Given the description of an element on the screen output the (x, y) to click on. 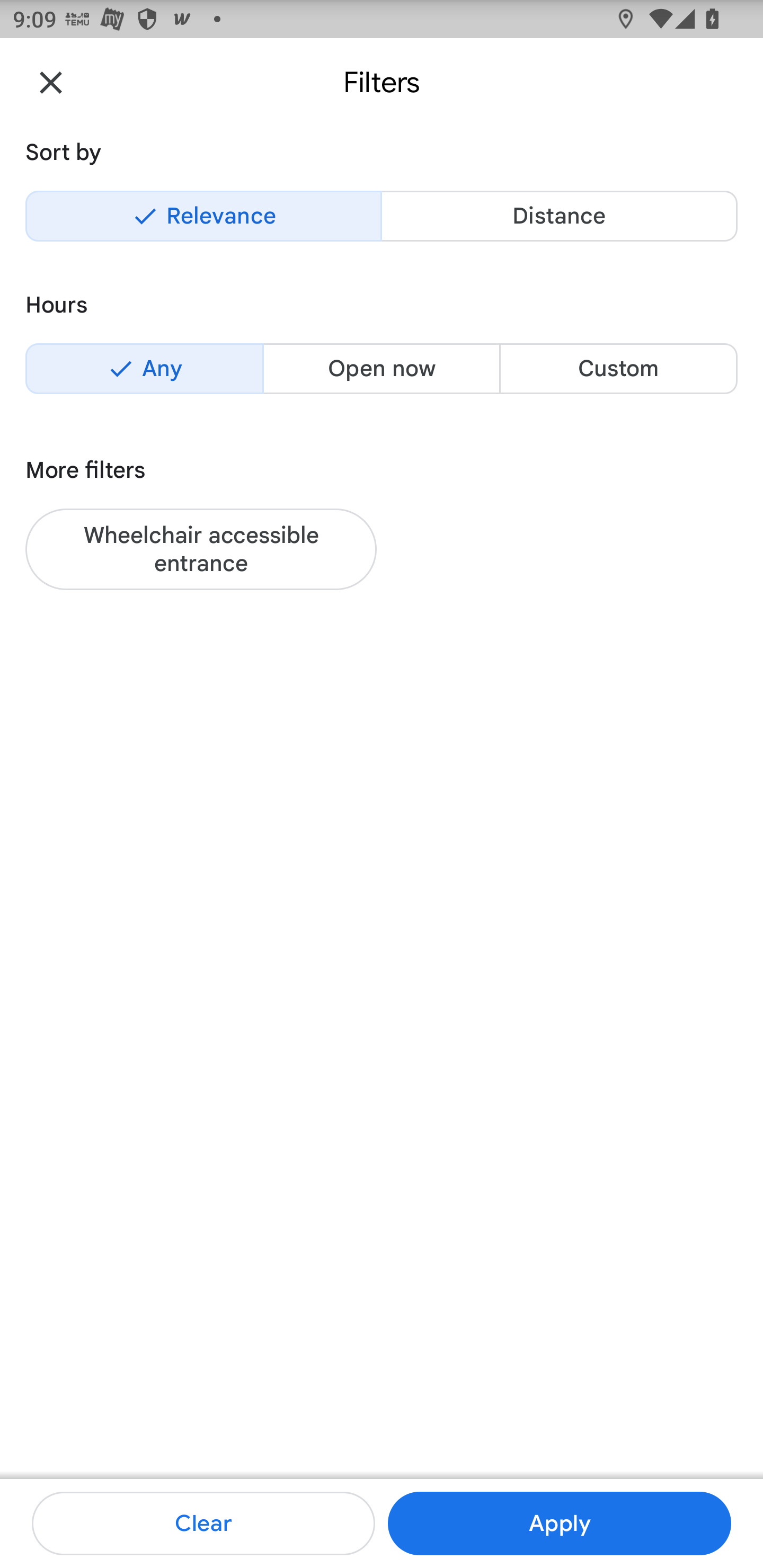
Close menu (50, 81)
Relevance (203, 216)
Distance (558, 216)
Any (144, 368)
Open now (381, 368)
Custom (618, 368)
Wheelchair accessible entrance (200, 548)
Clear Clear Clear (203, 1522)
Apply Apply Apply (558, 1522)
